Given the description of an element on the screen output the (x, y) to click on. 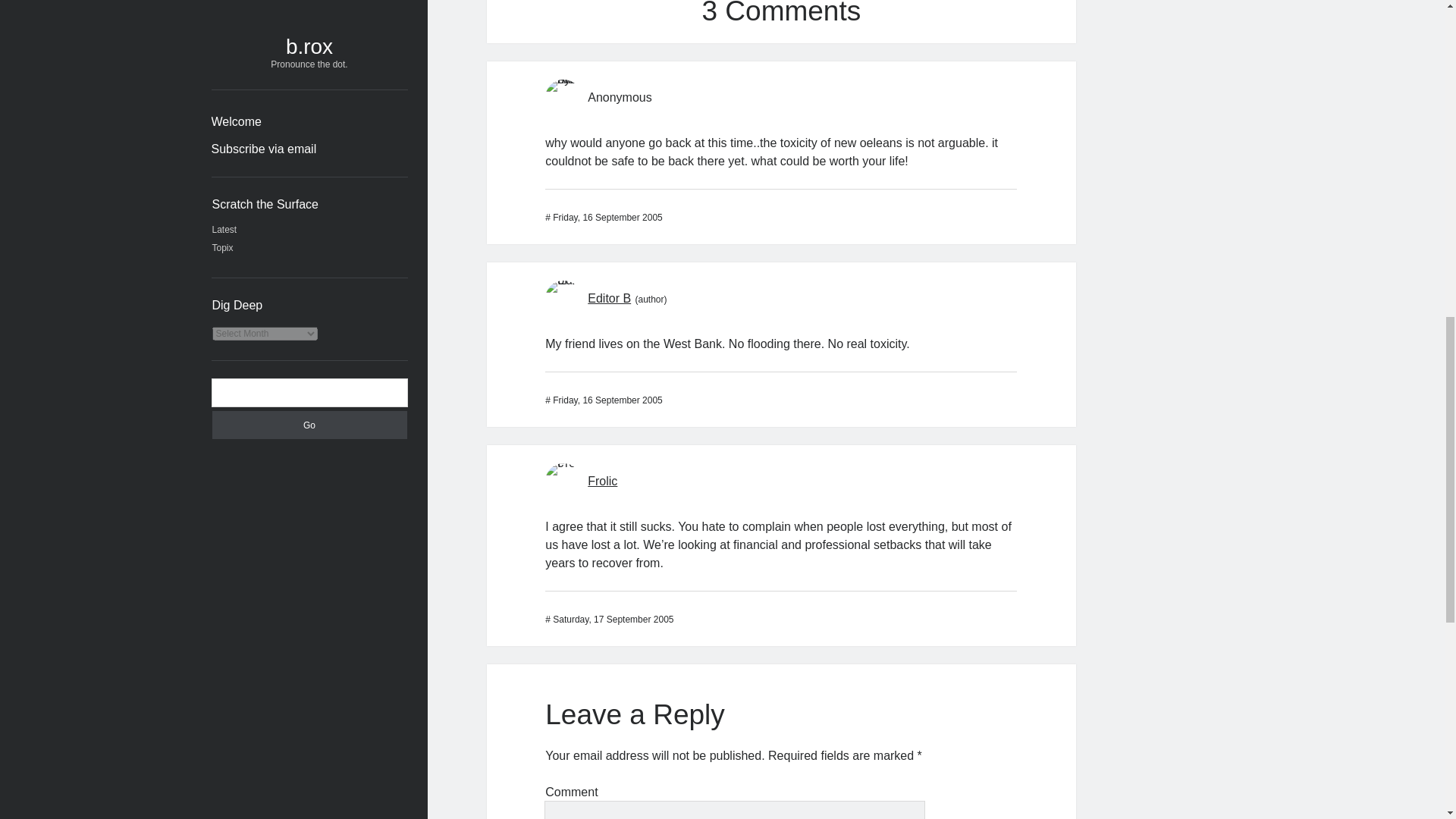
Frolic (602, 481)
Editor B (609, 297)
